Given the description of an element on the screen output the (x, y) to click on. 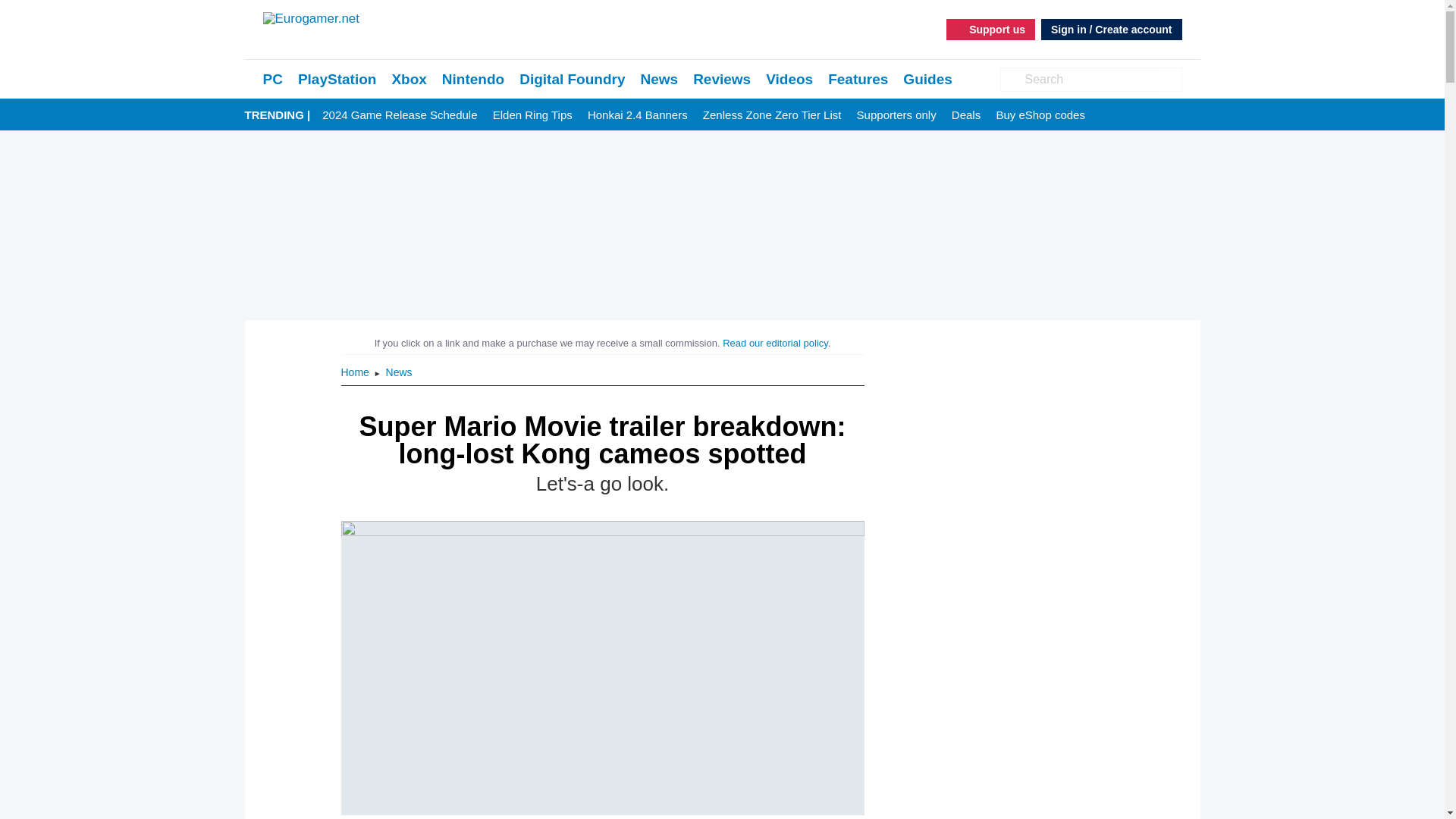
Deals (965, 114)
Supporters only (896, 114)
Read our editorial policy (775, 342)
Zenless Zone Zero Tier List (772, 114)
PlayStation (336, 78)
Deals (965, 114)
2024 Game Release Schedule (399, 114)
Honkai 2.4 Banners (637, 114)
Honkai 2.4 Banners (637, 114)
News (398, 372)
Buy eShop codes (1039, 114)
Nintendo (472, 78)
News (659, 78)
Digital Foundry (571, 78)
Nintendo (472, 78)
